Given the description of an element on the screen output the (x, y) to click on. 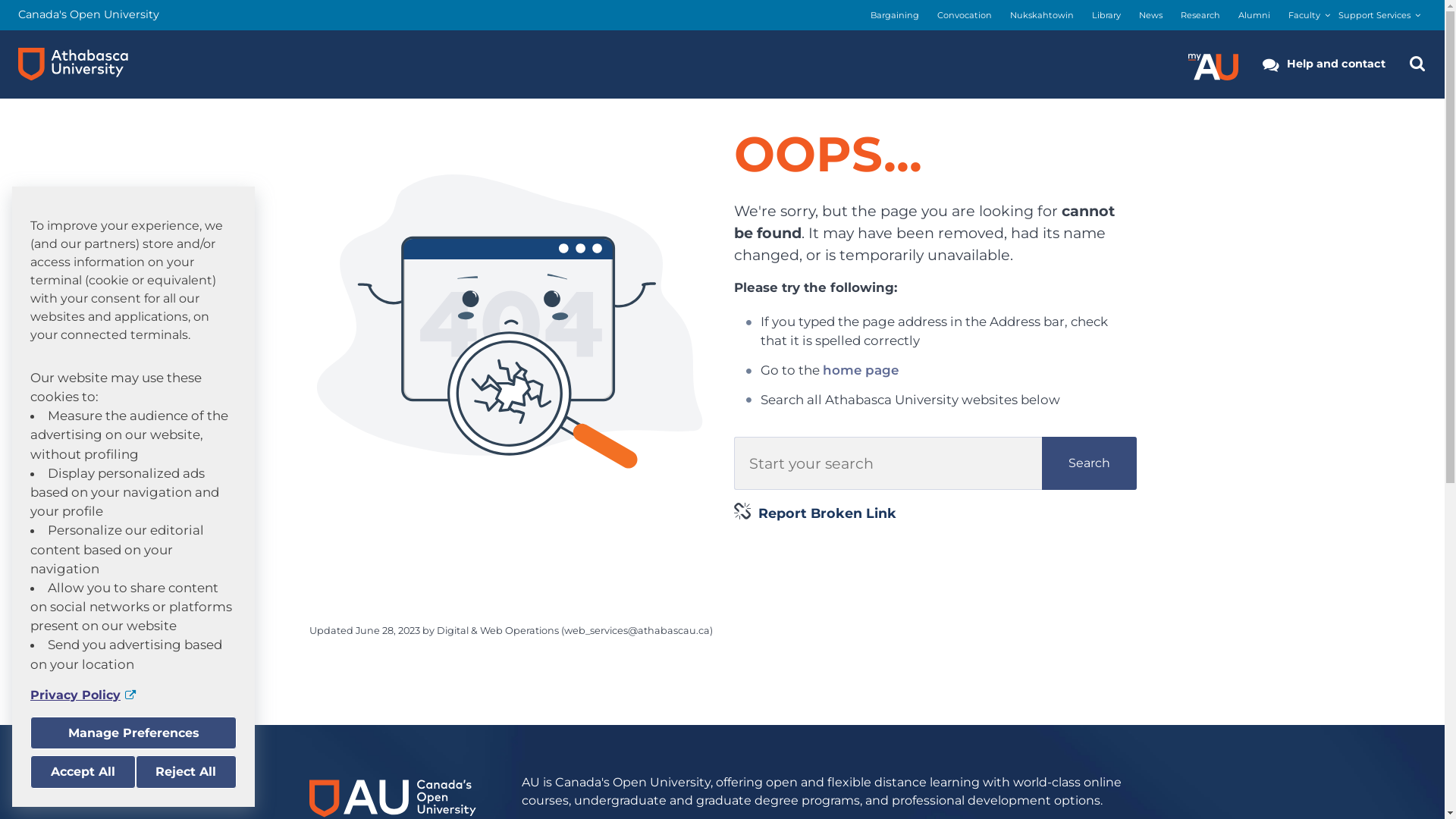
Privacy Policy Element type: text (133, 695)
Athabasca University logo Element type: text (73, 64)
Skip to main content Element type: text (0, 0)
Faculty Element type: text (1304, 15)
Support Services Element type: text (1374, 15)
Help and contact Element type: text (1323, 64)
Manage Preferences Element type: text (133, 732)
home page Element type: text (860, 369)
Bargaining Element type: text (894, 15)
News Element type: text (1150, 15)
Research Element type: text (1200, 15)
Alumni Element type: text (1254, 15)
Convocation Element type: text (964, 15)
Reject All Element type: text (185, 771)
Search Element type: text (1088, 462)
Nukskahtowin Element type: text (1041, 15)
Library Element type: text (1106, 15)
Search the Athabasca University Website Element type: hover (1417, 64)
Accept All Element type: text (82, 771)
